Given the description of an element on the screen output the (x, y) to click on. 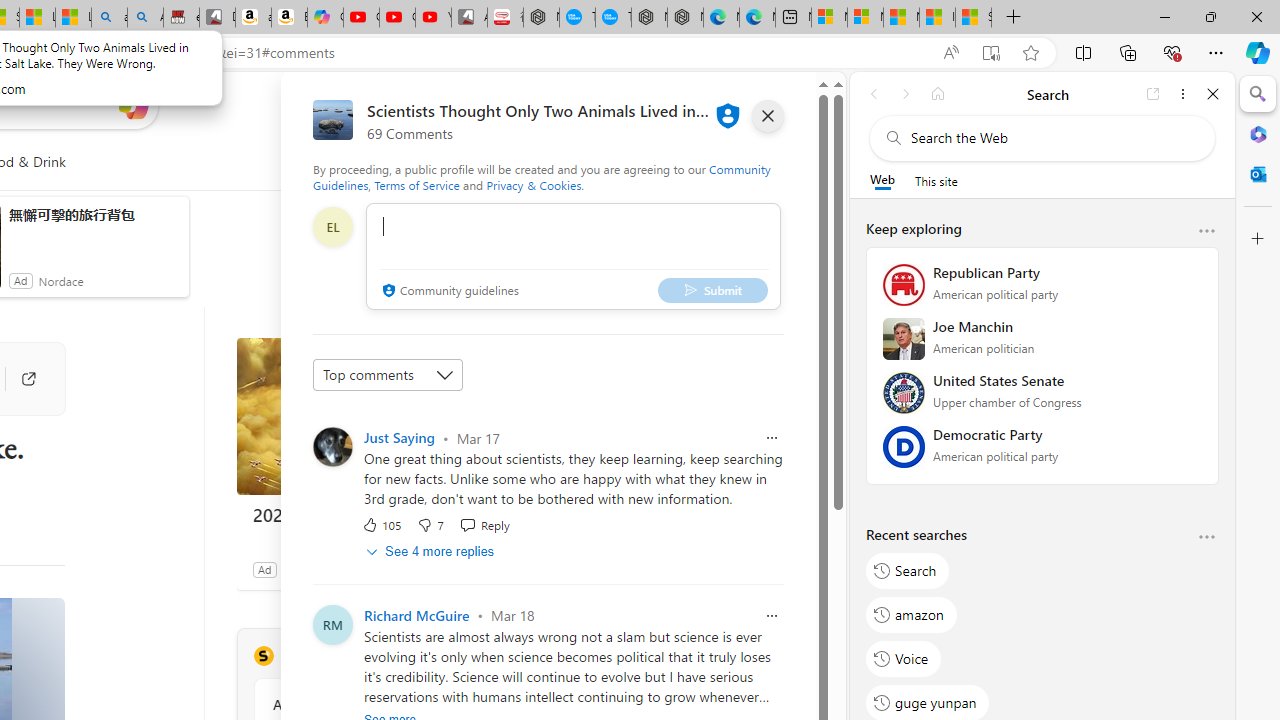
Minimize (1164, 16)
The most popular Google 'how to' searches (613, 17)
Restore (1210, 16)
Settings and more (Alt+F) (1215, 52)
Notifications (746, 105)
Richard McGuire (416, 614)
Community guidelines (448, 291)
Open settings (786, 105)
Visit ScienceAlert website (511, 655)
Terms of Service (416, 184)
Profile Picture (333, 446)
Nordace (61, 280)
comment-box (573, 256)
